Given the description of an element on the screen output the (x, y) to click on. 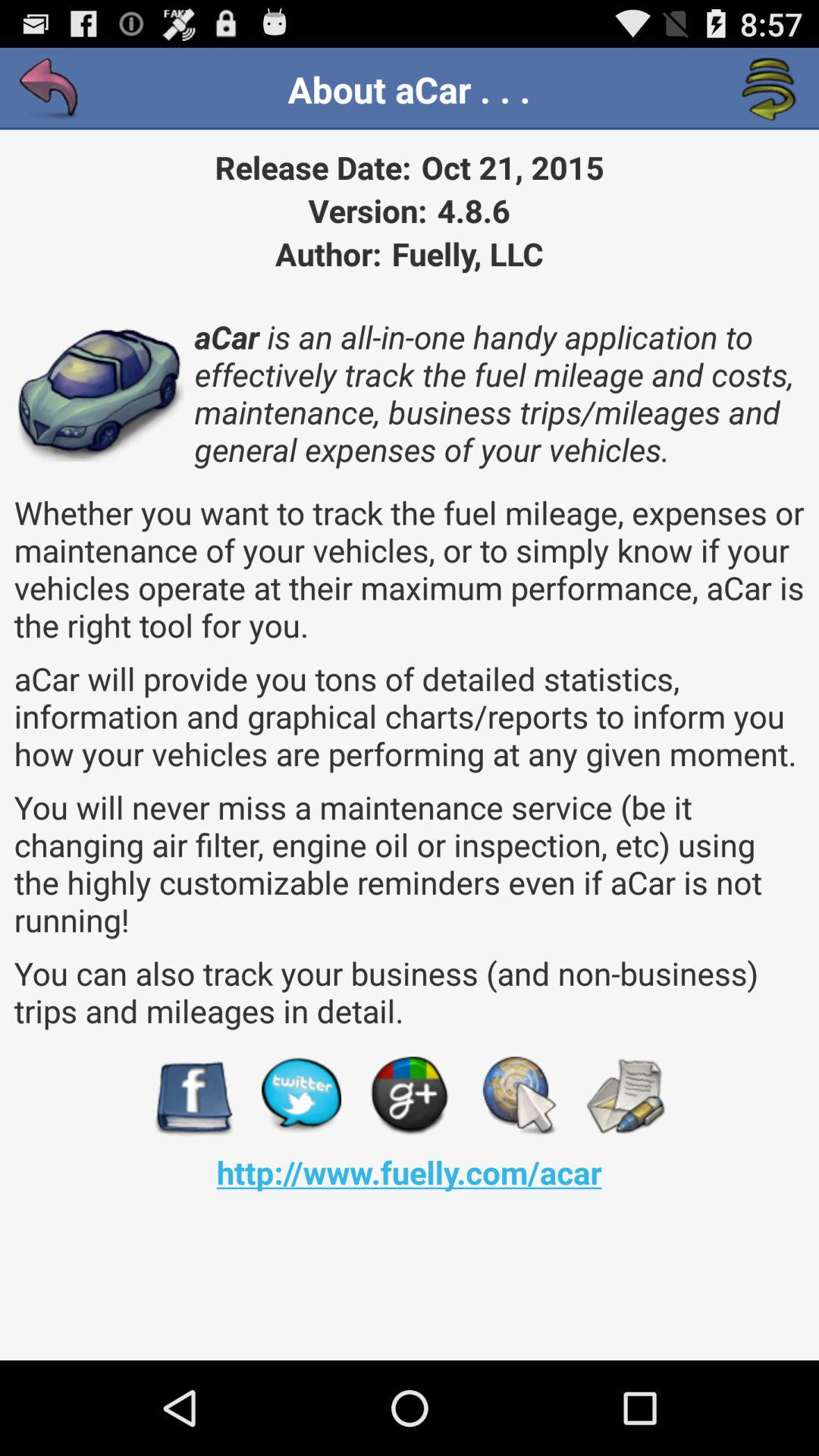
launch item above the http www fuelly icon (409, 1096)
